Given the description of an element on the screen output the (x, y) to click on. 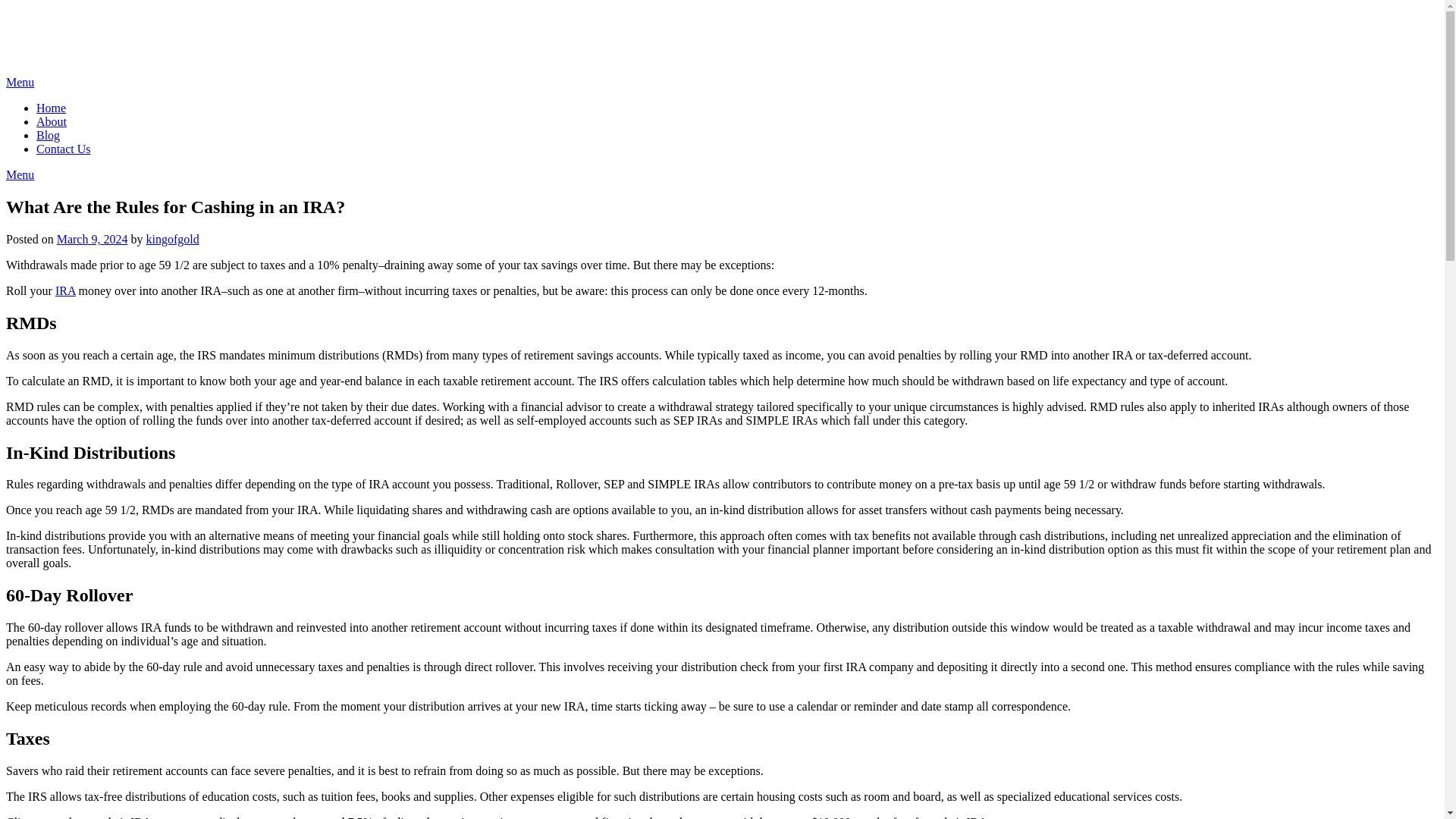
IRA (65, 290)
kingofgold (171, 238)
About (51, 121)
Blog (47, 134)
March 9, 2024 (92, 238)
Contact Us (63, 148)
Home (50, 107)
Menu (19, 82)
Menu (19, 174)
